Given the description of an element on the screen output the (x, y) to click on. 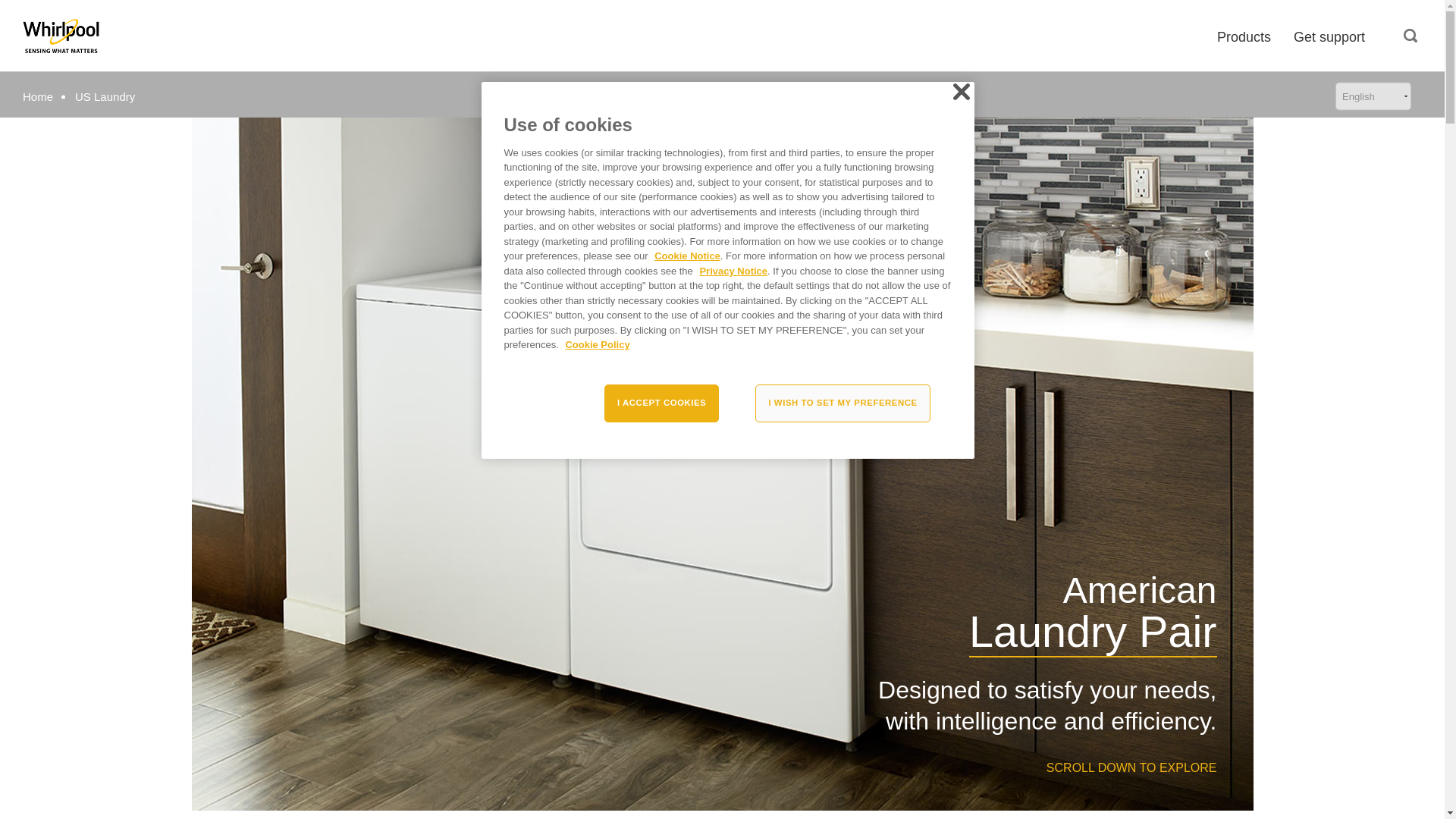
Products (1243, 36)
SCROLL DOWN TO EXPLORE (721, 767)
SCROLL DOWN TO EXPLORE (721, 767)
Home (37, 96)
Get support (1328, 36)
